Given the description of an element on the screen output the (x, y) to click on. 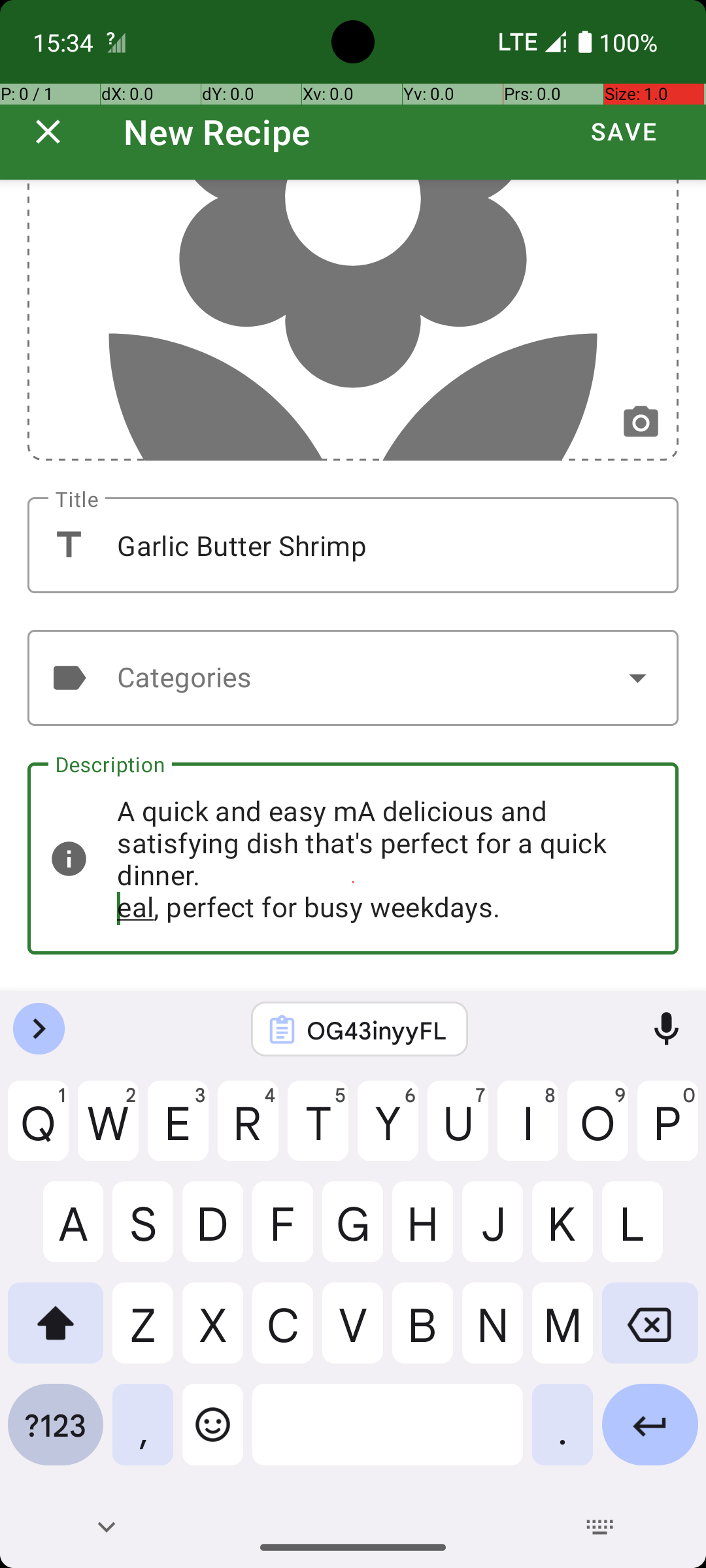
A quick and easy mA delicious and satisfying dish that's perfect for a quick dinner.
eal, perfect for busy weekdays. Element type: android.widget.EditText (352, 858)
OG43inyyFL Element type: android.widget.TextView (376, 1029)
